Given the description of an element on the screen output the (x, y) to click on. 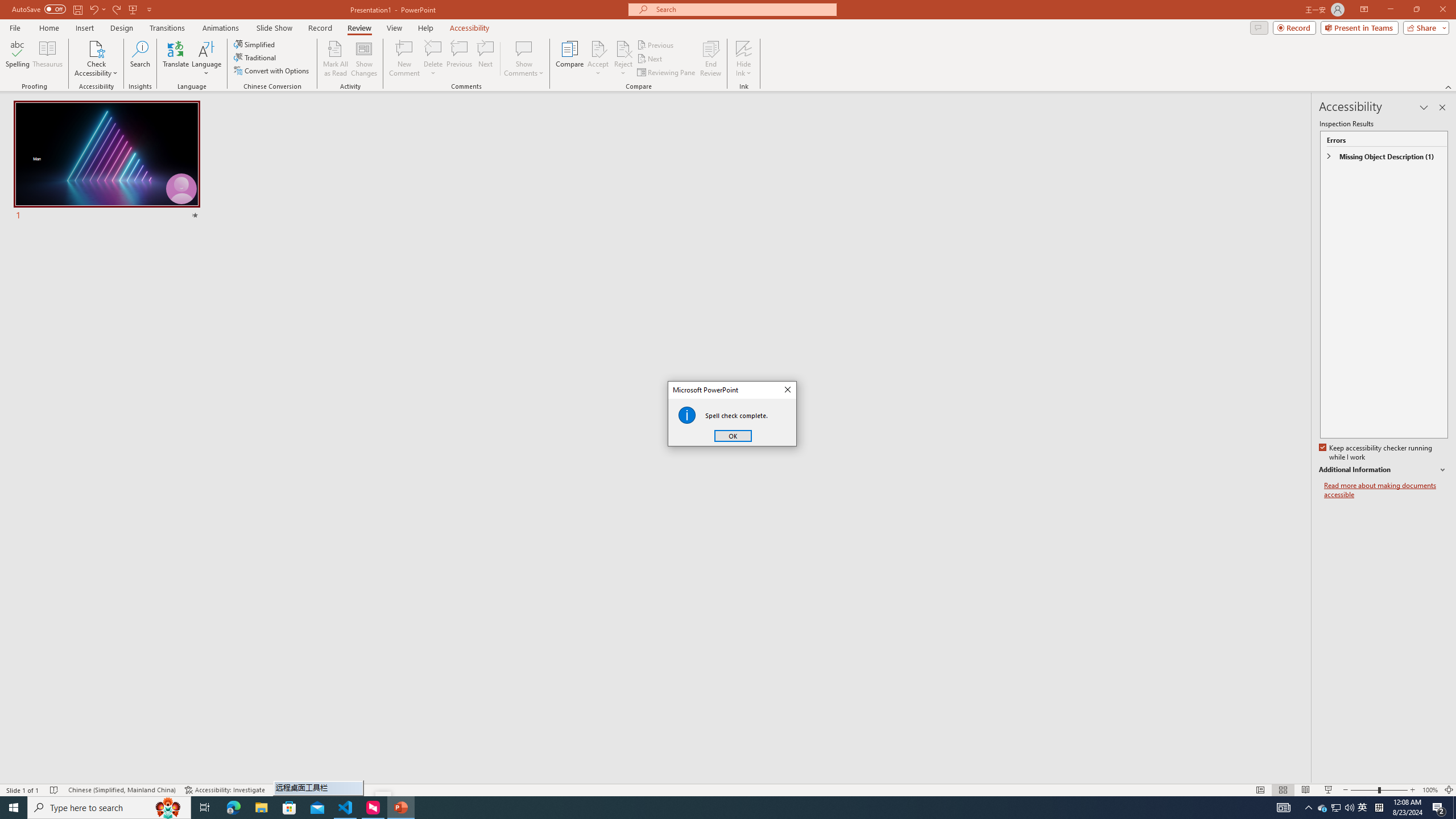
Show Changes (363, 58)
Compare (569, 58)
